Given the description of an element on the screen output the (x, y) to click on. 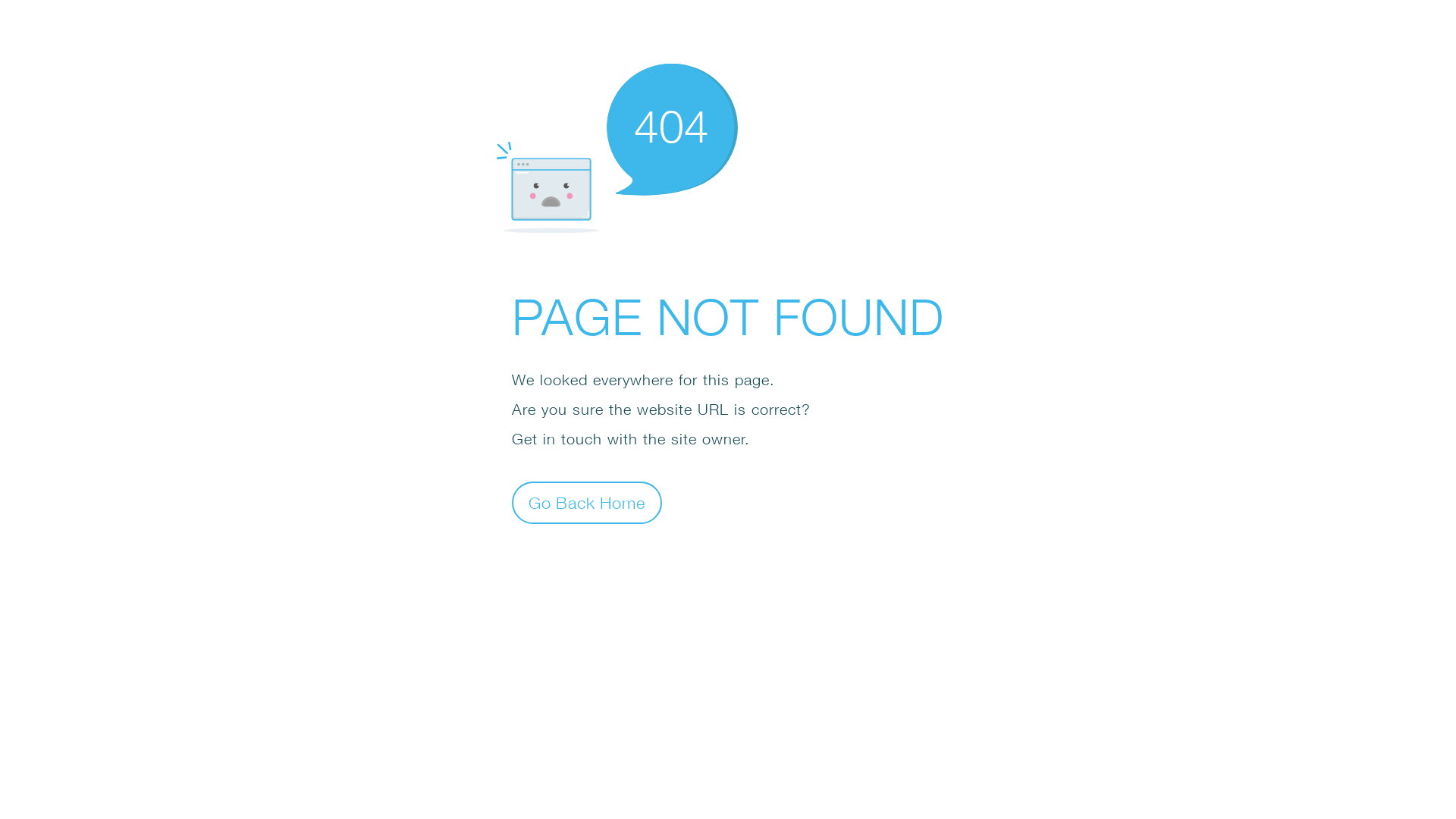
Go Back Home Element type: text (586, 502)
